Given the description of an element on the screen output the (x, y) to click on. 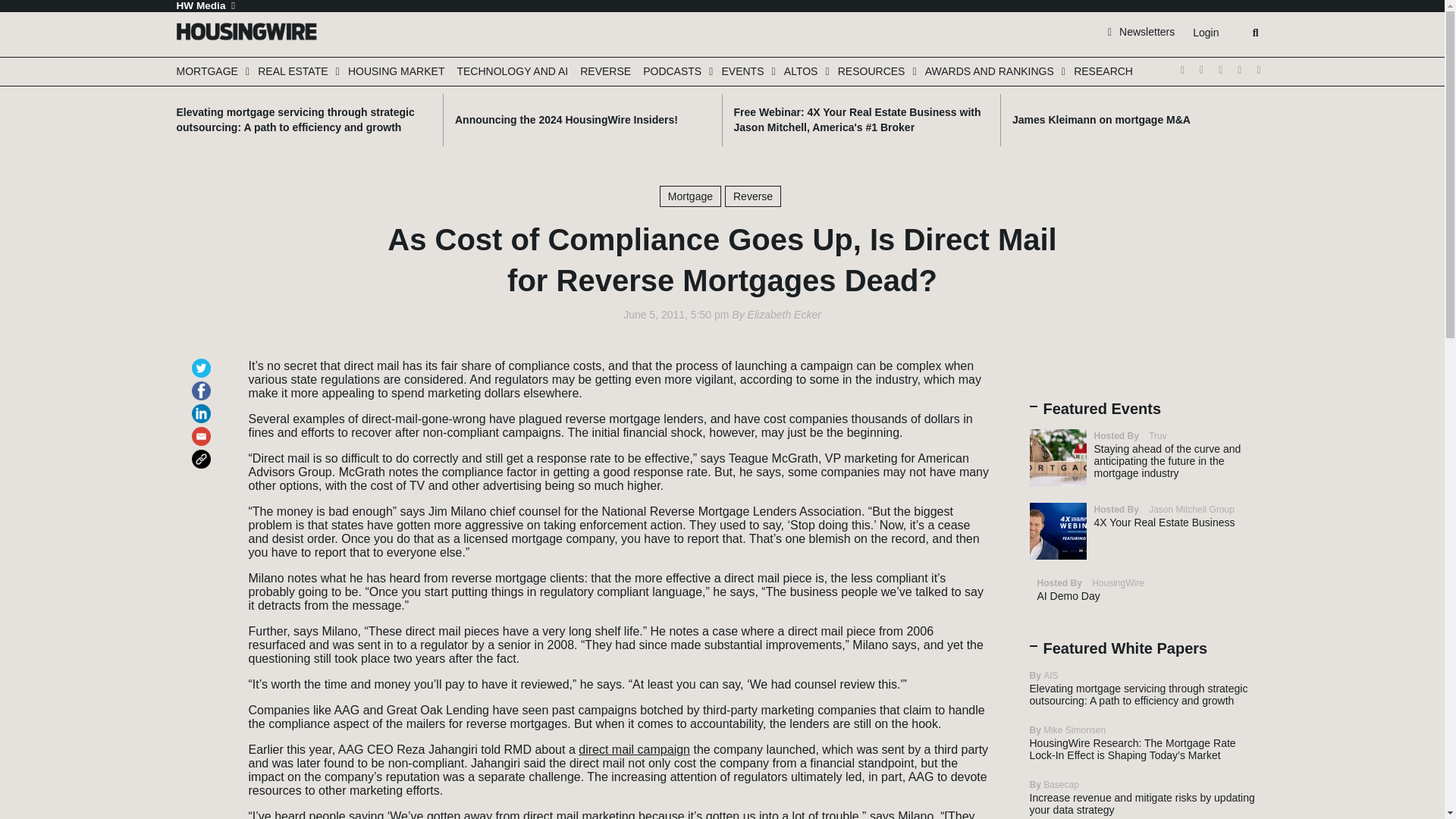
Click to share on LinkedIn (203, 406)
Newsletters (1141, 31)
Click to email a link to a friend (203, 429)
Posts by Elizabeth Ecker (784, 314)
Click to share on Facebook (203, 383)
Click to copy link (203, 452)
Login (1205, 32)
Click to share on Twitter (203, 360)
